Given the description of an element on the screen output the (x, y) to click on. 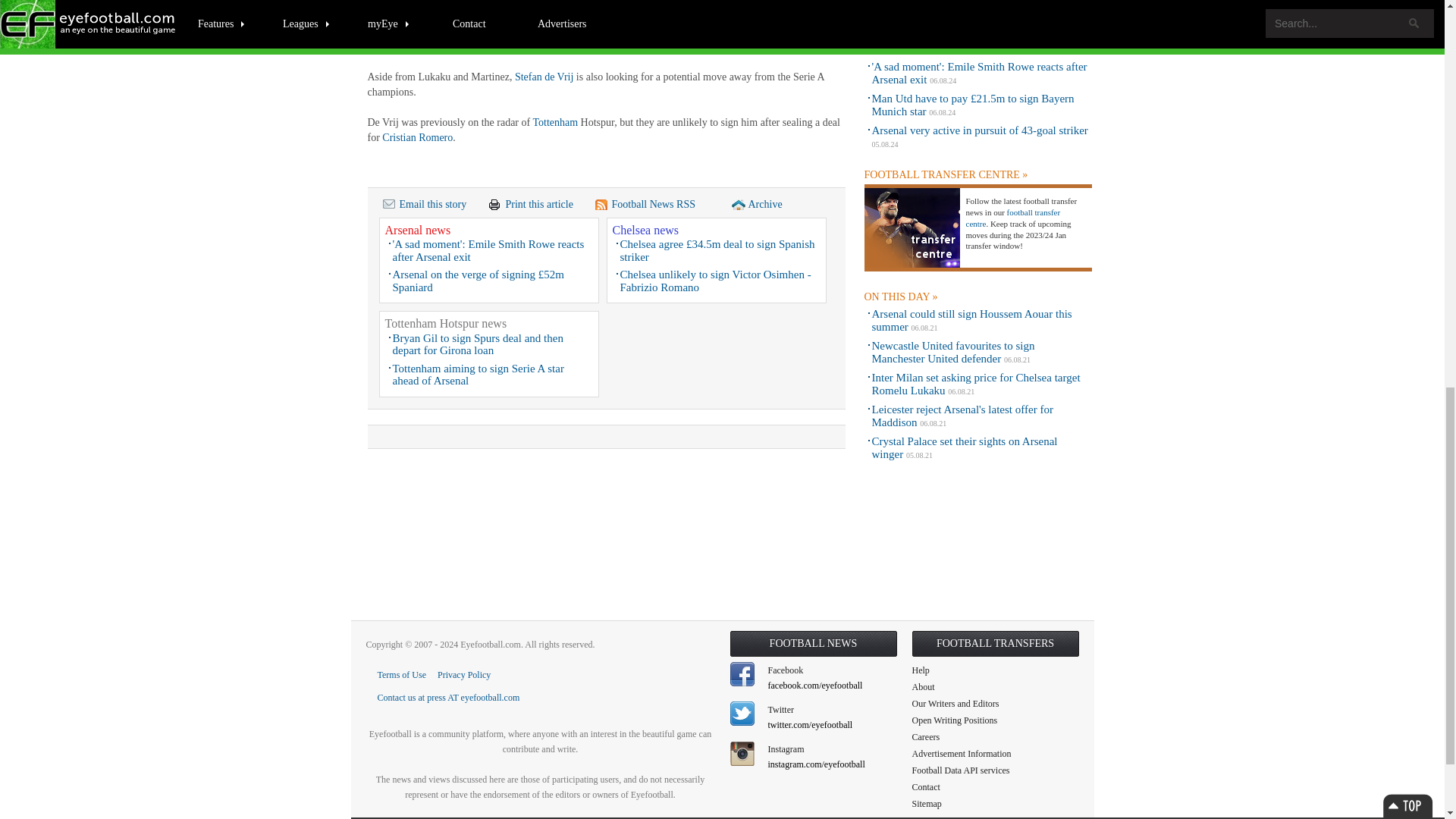
Stefan de Vrij (544, 76)
Tottenham (555, 122)
Cristian Romero (416, 137)
